Given the description of an element on the screen output the (x, y) to click on. 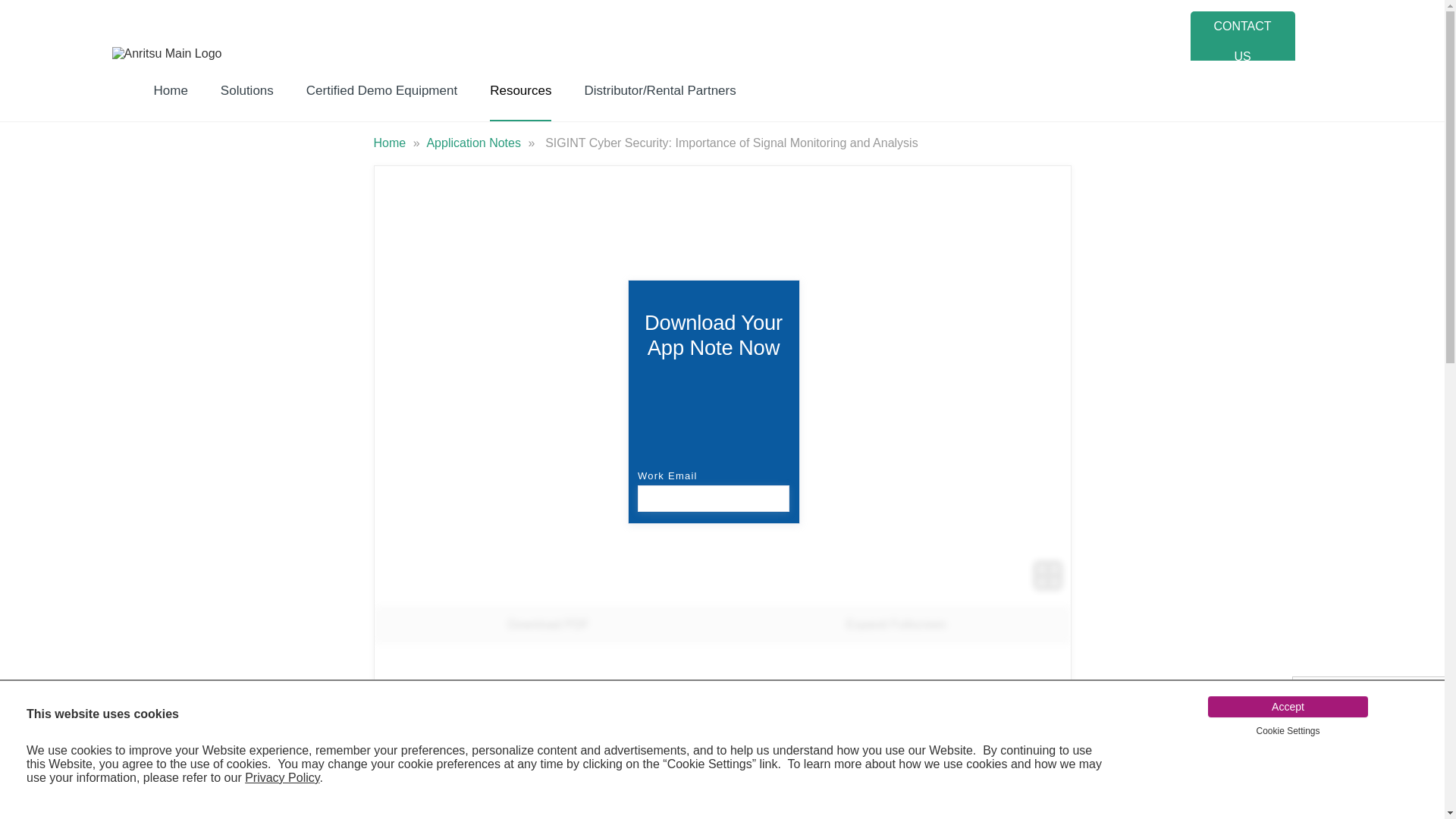
Application Notes (475, 142)
Certified Demo Equipment (381, 90)
Resources (520, 90)
Privacy Policy (281, 777)
Accept (1288, 706)
Home (390, 142)
Solutions (247, 90)
Cookie Settings (1287, 730)
CONTACT US (1243, 41)
